Given the description of an element on the screen output the (x, y) to click on. 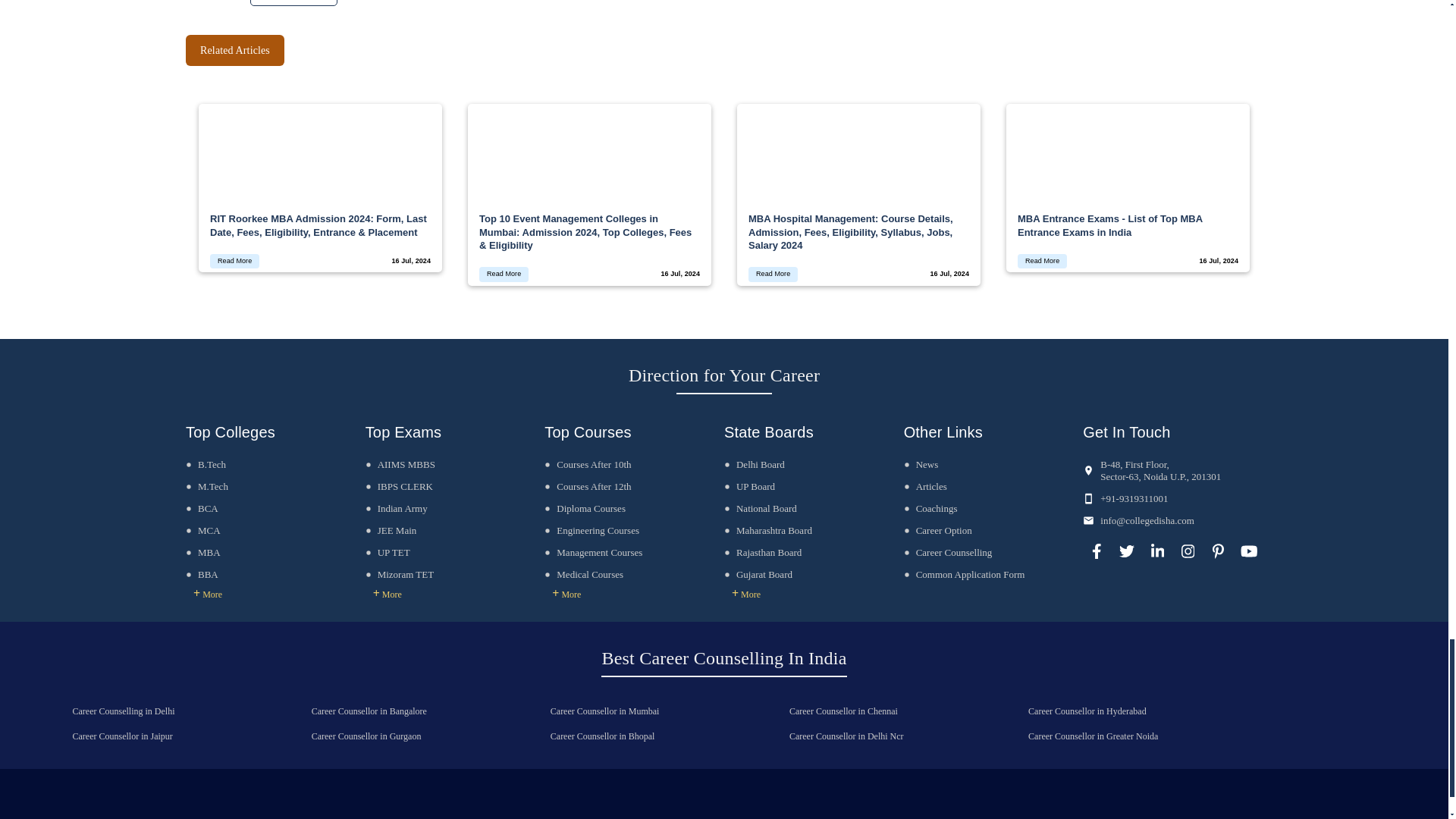
Best Career Options (293, 2)
